Given the description of an element on the screen output the (x, y) to click on. 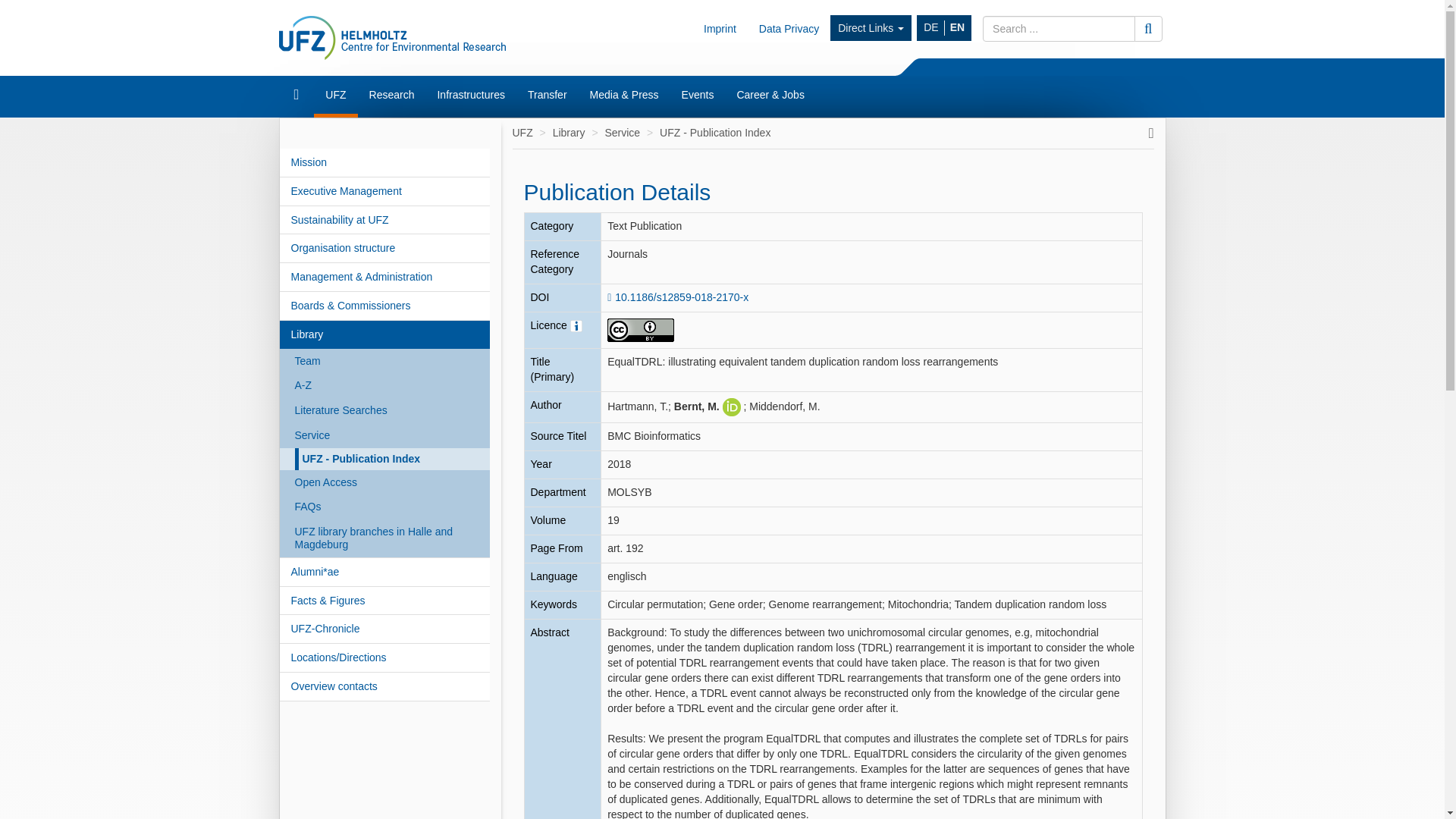
Data Privacy (788, 28)
EN (956, 28)
DE (930, 28)
Imprint (720, 28)
Direct Links (870, 27)
search term (1058, 28)
